Given the description of an element on the screen output the (x, y) to click on. 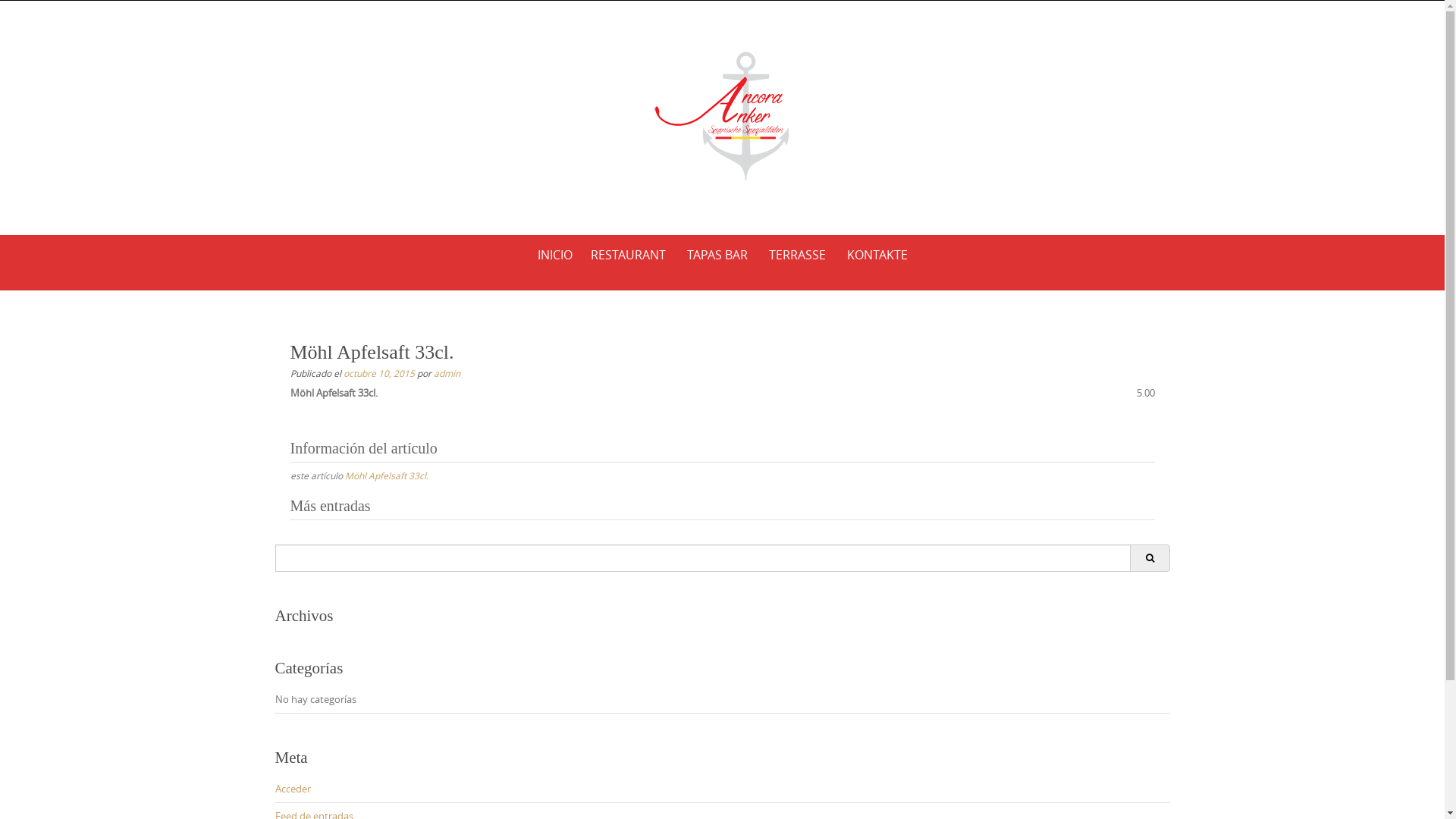
admin Element type: text (446, 373)
KONTAKTE Element type: text (876, 254)
octubre 10, 2015 Element type: text (378, 373)
Acceder Element type: text (292, 788)
TERRASSE Element type: text (796, 254)
Buscar Element type: text (1149, 557)
RESTAURANT Element type: text (627, 254)
Saltar al contenido Element type: text (274, 235)
TAPAS BAR Element type: text (716, 254)
INICIO Element type: text (553, 254)
